Given the description of an element on the screen output the (x, y) to click on. 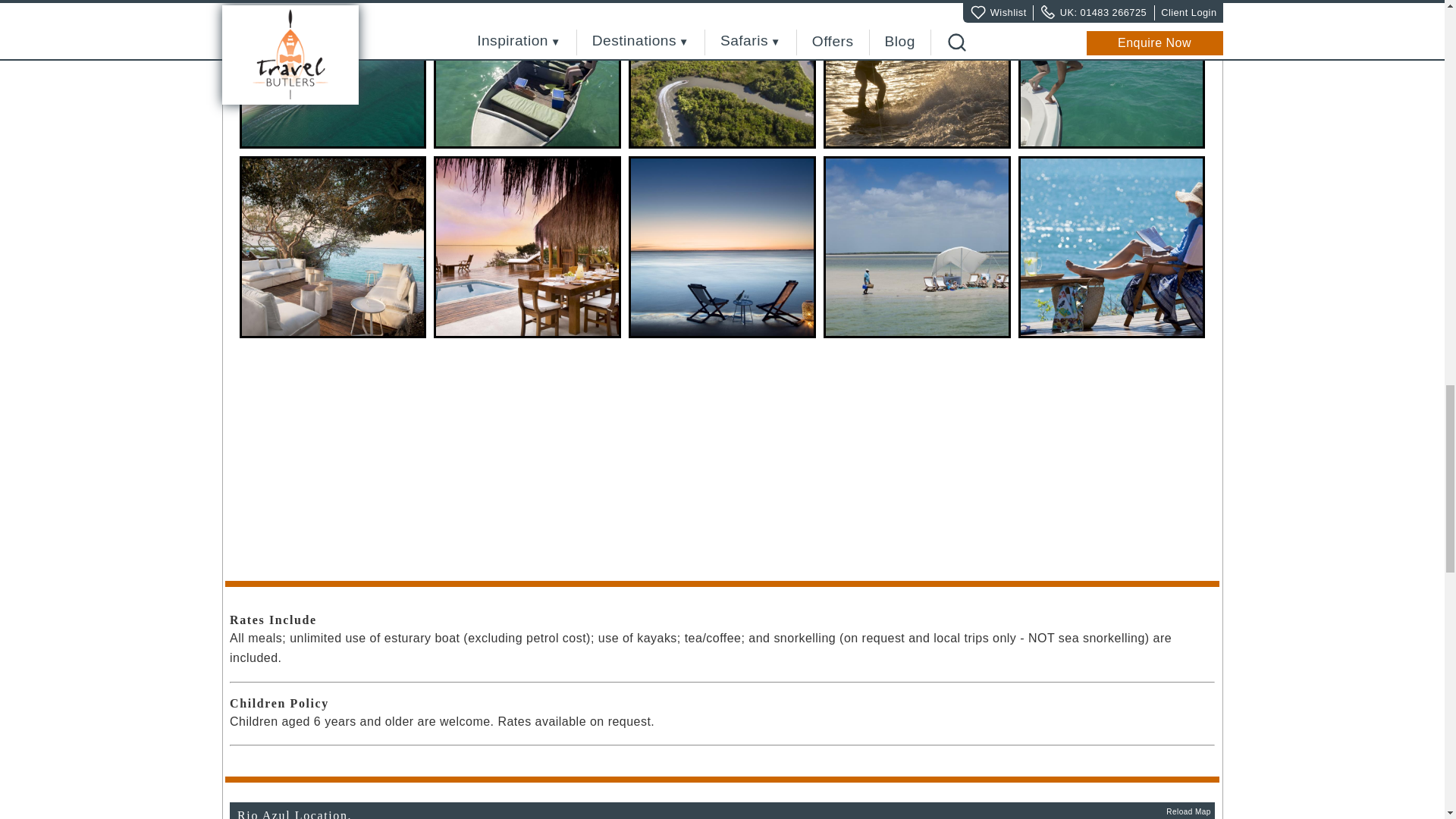
Cruise Through the Mangroves (721, 74)
Aerial View (333, 74)
Jump! (1111, 74)
Wakeboarding (917, 74)
Boat Trips (527, 74)
Outdoor Lounge (333, 247)
